Given the description of an element on the screen output the (x, y) to click on. 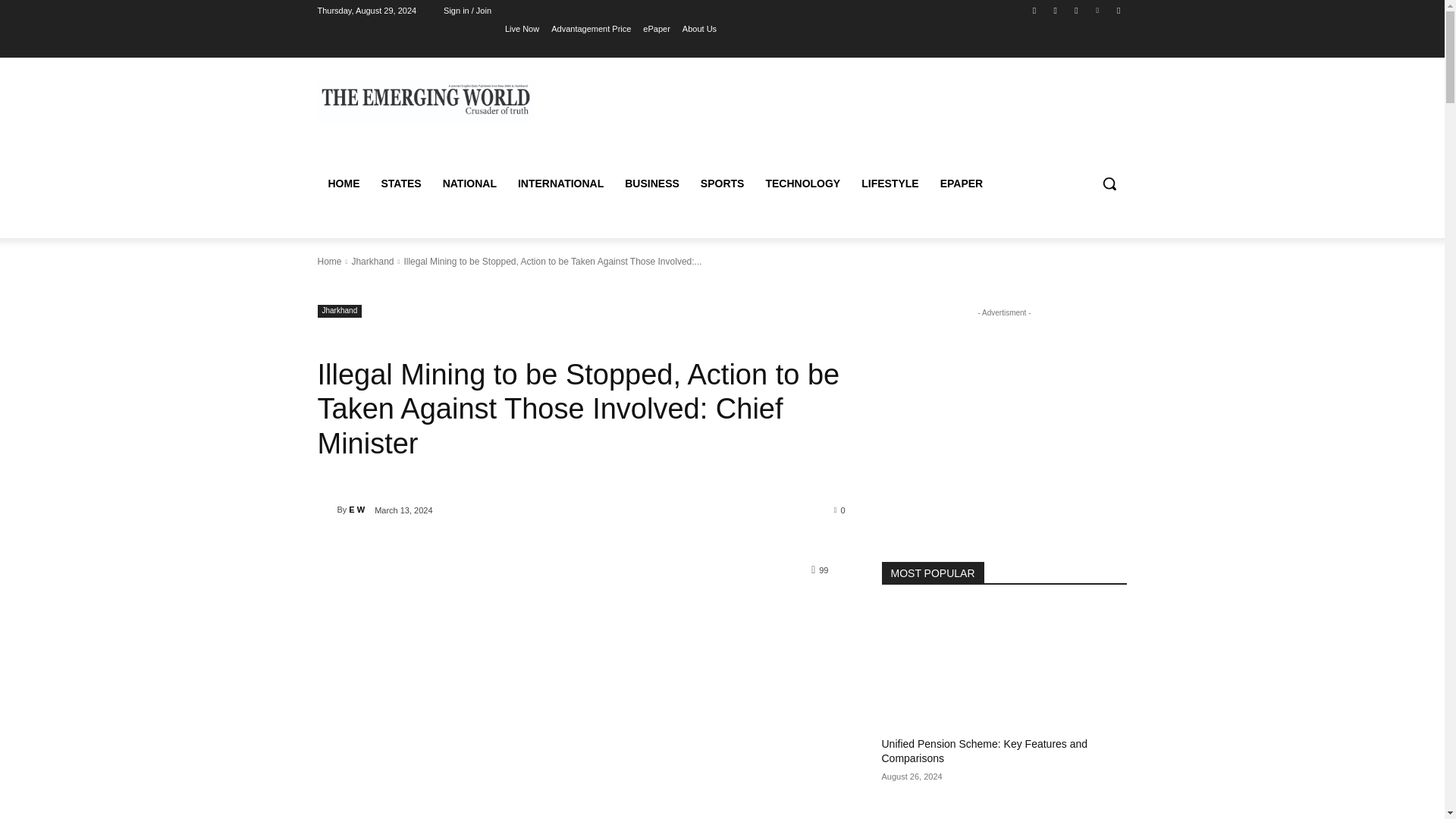
About Us (699, 28)
NATIONAL (469, 183)
INTERNATIONAL (560, 183)
STATES (399, 183)
Youtube (1117, 9)
Facebook (1034, 9)
ePaper (656, 28)
SPORTS (722, 183)
Advantagement Price (590, 28)
EPAPER (962, 183)
